Given the description of an element on the screen output the (x, y) to click on. 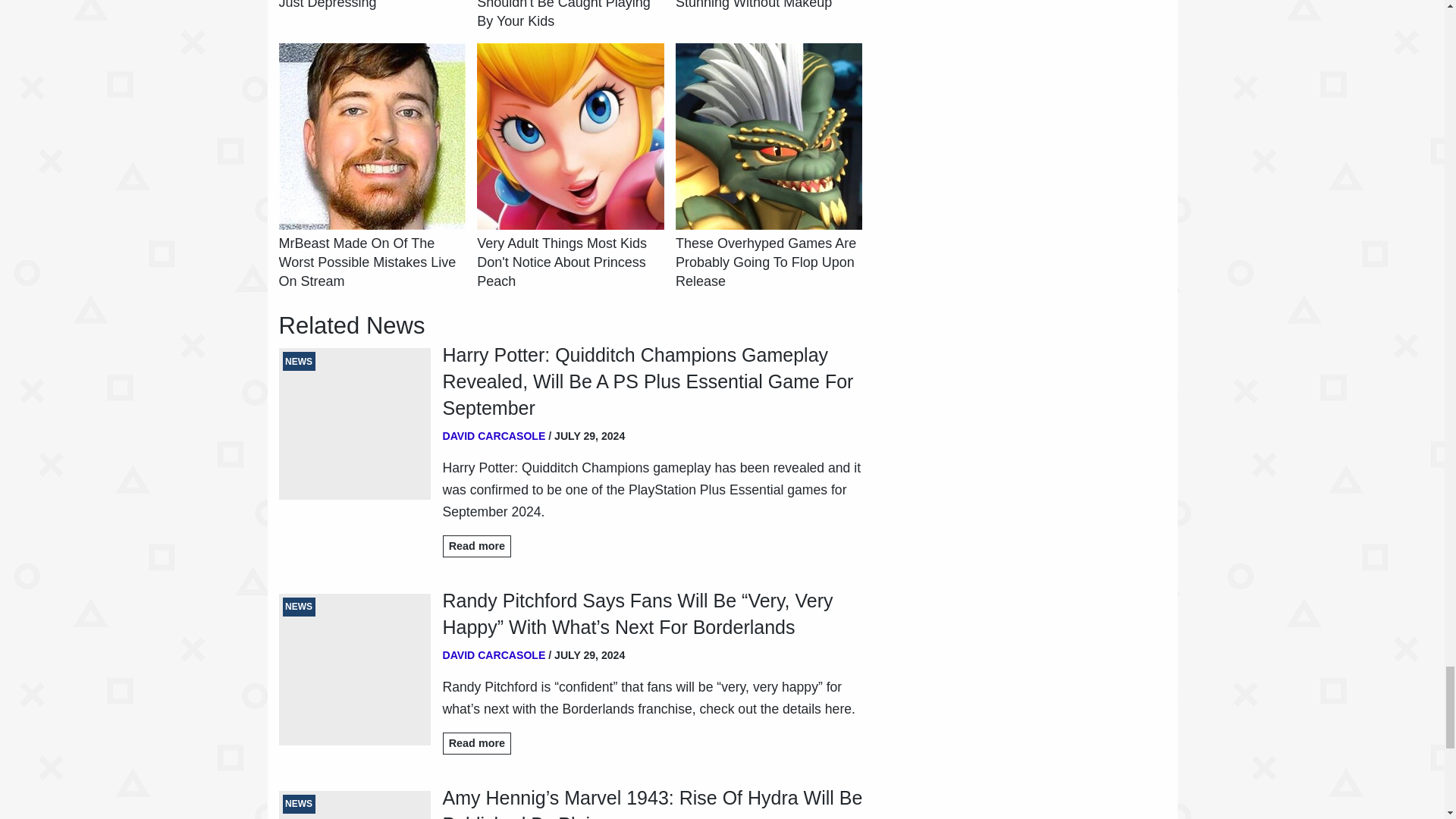
NEWS (354, 423)
The Tragedy Of Markiplier Is Just Depressing (372, 6)
These Twitch Streamers Are Stunning Without Makeup (768, 6)
